Given the description of an element on the screen output the (x, y) to click on. 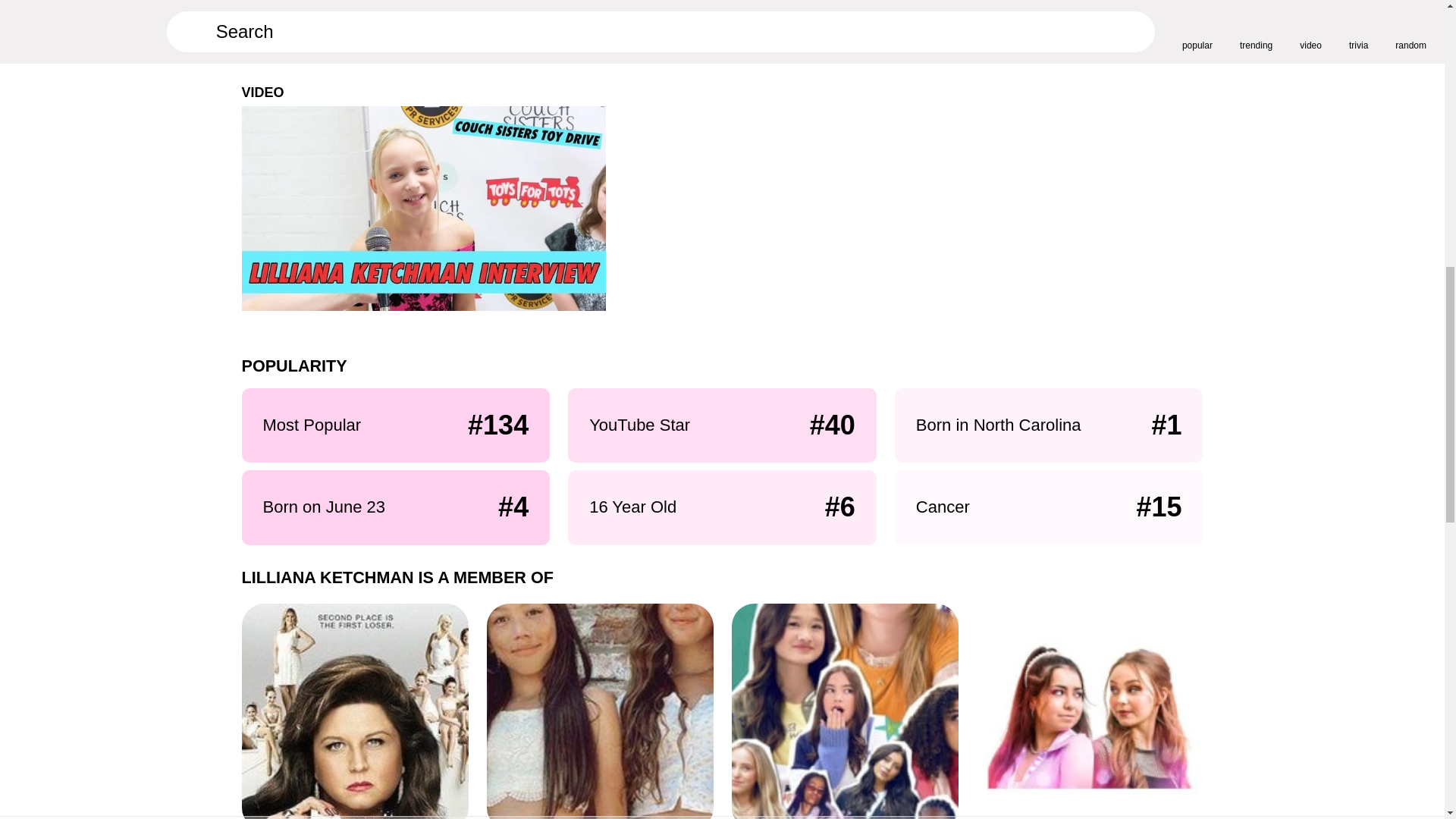
Dance Rivals (1090, 711)
Classroom Confidential (844, 711)
Elliana Walmsley (549, 51)
Vibe Crew (599, 711)
Dance Moms (354, 711)
